Given the description of an element on the screen output the (x, y) to click on. 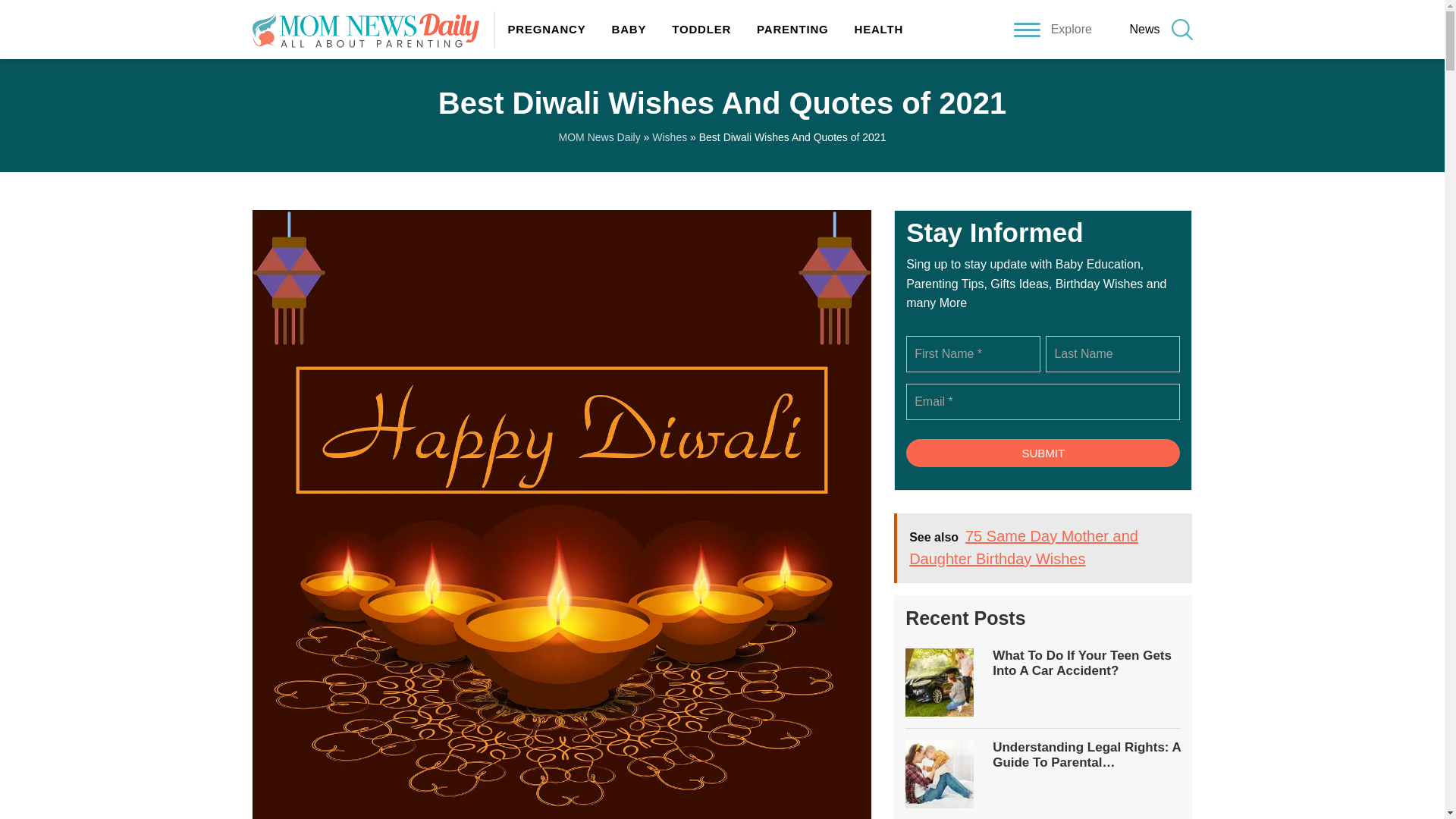
PARENTING (792, 29)
News (1143, 29)
MOM News Daily (599, 137)
TODDLER (701, 29)
PREGNANCY (546, 29)
Wishes (669, 137)
BABY (628, 29)
HEALTH (872, 29)
